Given the description of an element on the screen output the (x, y) to click on. 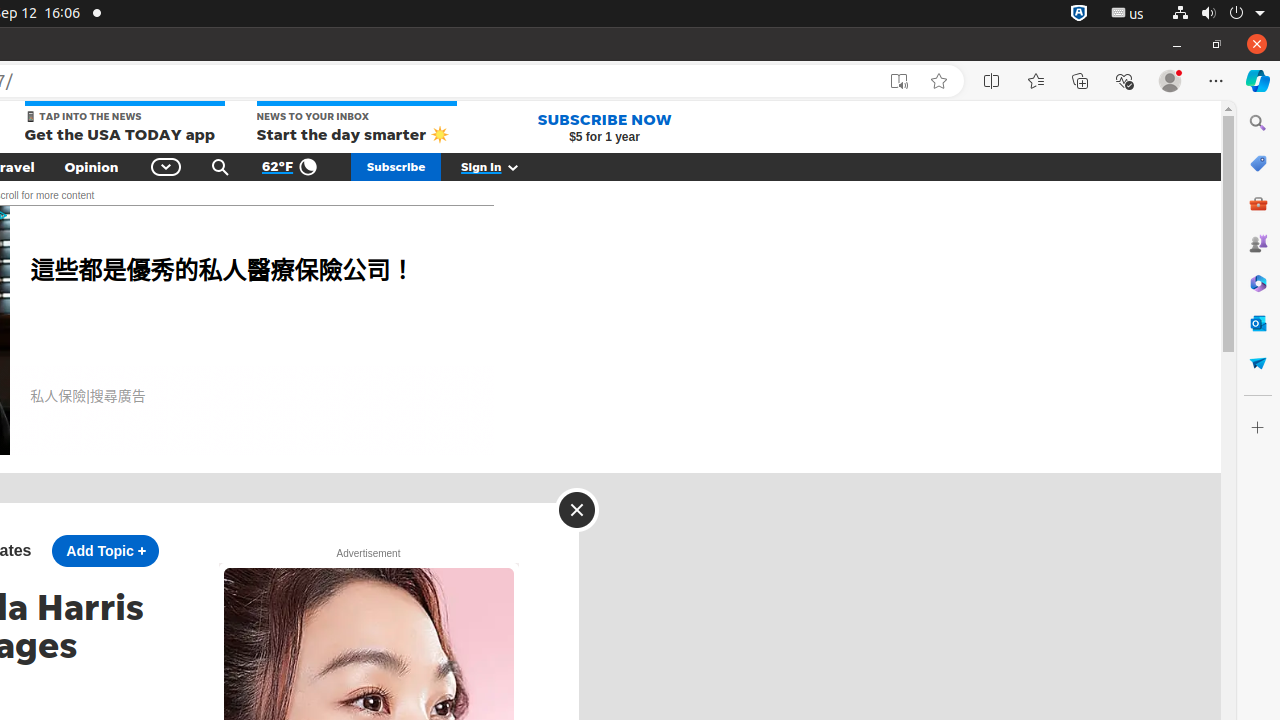
📱 TAP INTO THE NEWS Get the USA TODAY app Element type: link (124, 123)
Outlook Element type: push-button (1258, 323)
Sign In Element type: link (501, 167)
Enter Immersive Reader (F9) Element type: push-button (899, 81)
NEWS TO YOUR INBOX Start the day smarter ☀️ Element type: link (356, 123)
